Given the description of an element on the screen output the (x, y) to click on. 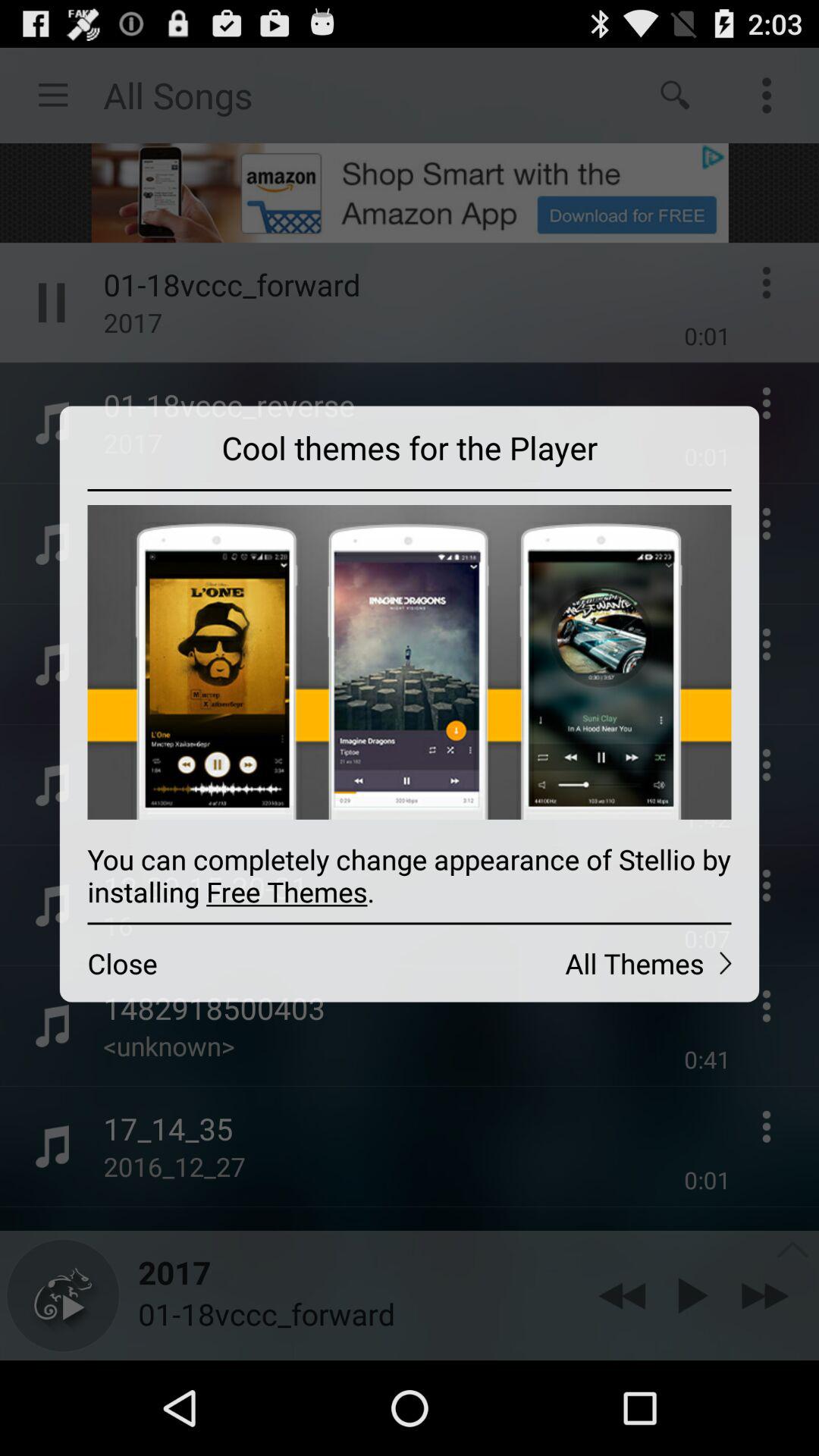
open icon to the left of all themes icon (234, 963)
